Given the description of an element on the screen output the (x, y) to click on. 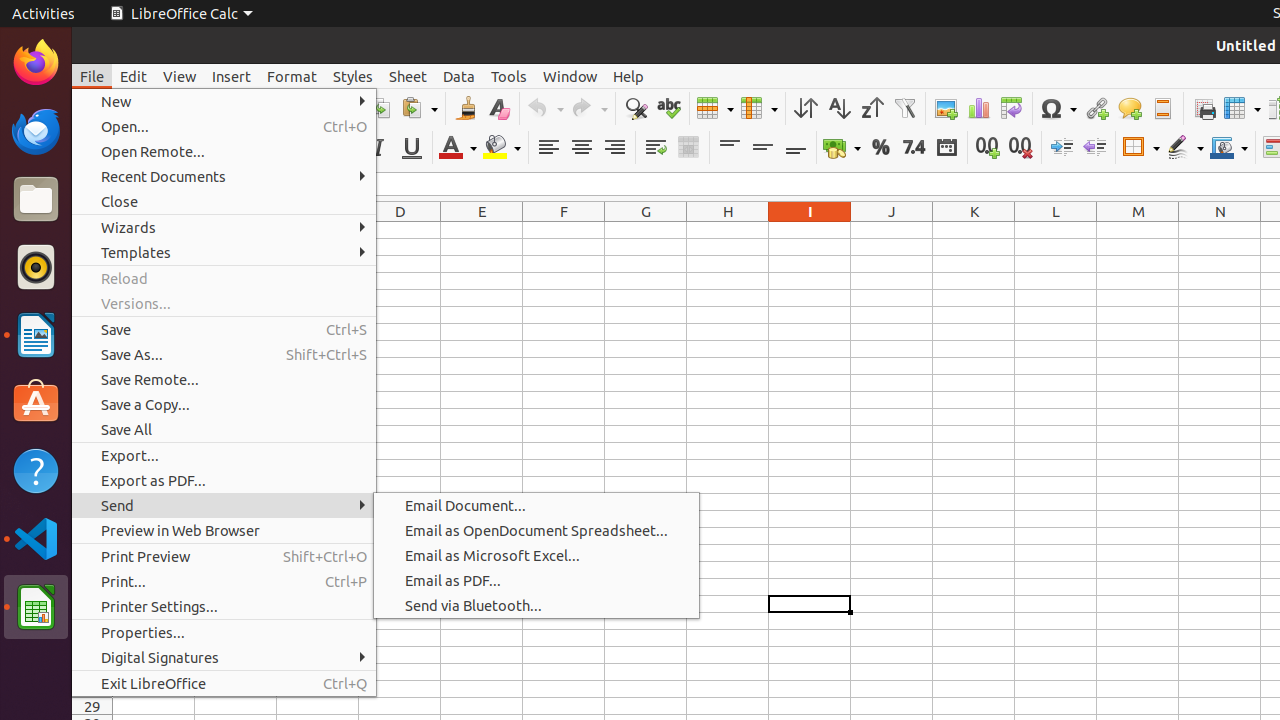
J1 Element type: table-cell (892, 230)
Increase Element type: push-button (1061, 147)
Chart Element type: push-button (978, 108)
Print... Element type: menu-item (224, 581)
Wrap Text Element type: push-button (655, 147)
